Given the description of an element on the screen output the (x, y) to click on. 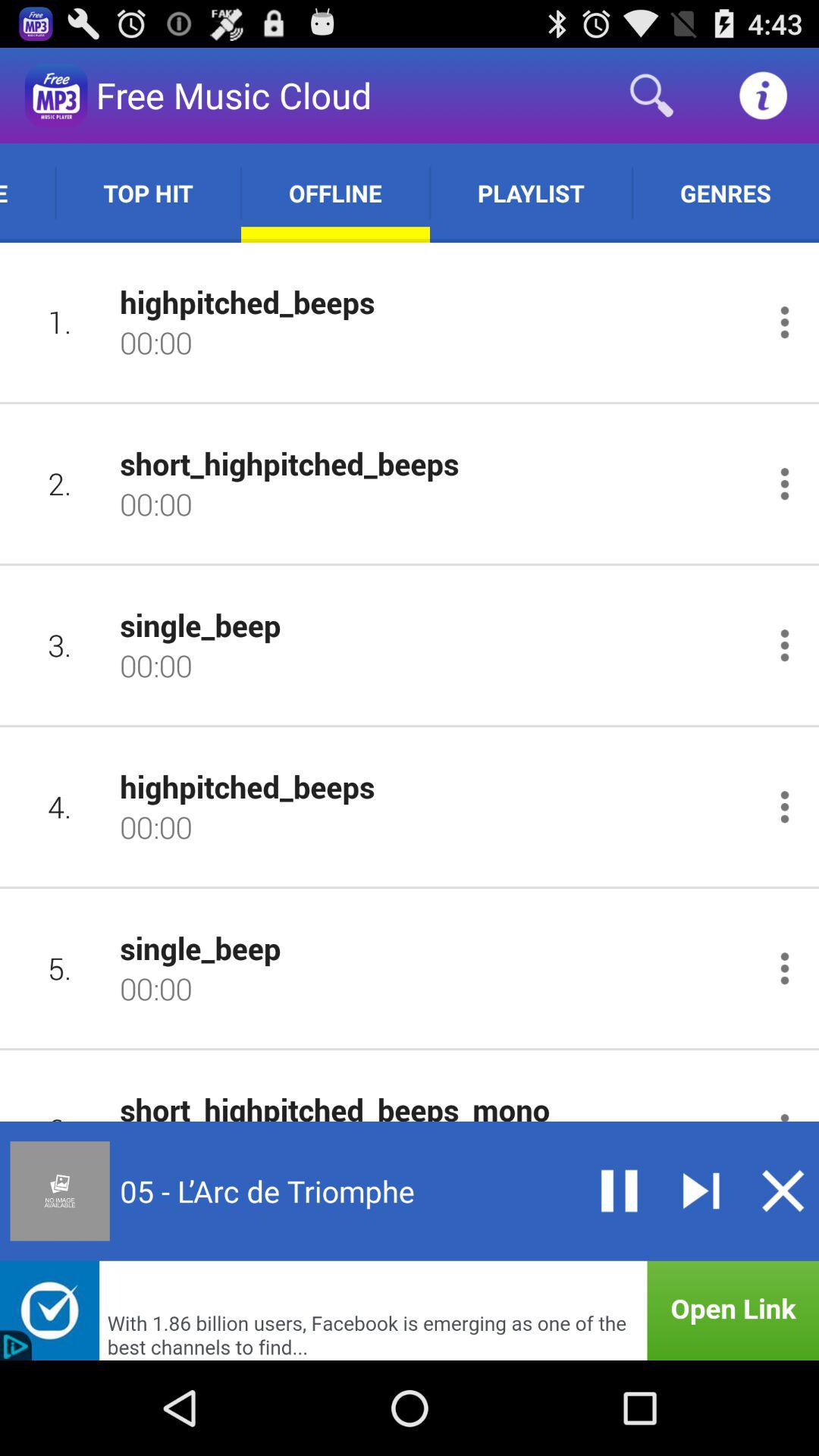
configure sound options (784, 483)
